Given the description of an element on the screen output the (x, y) to click on. 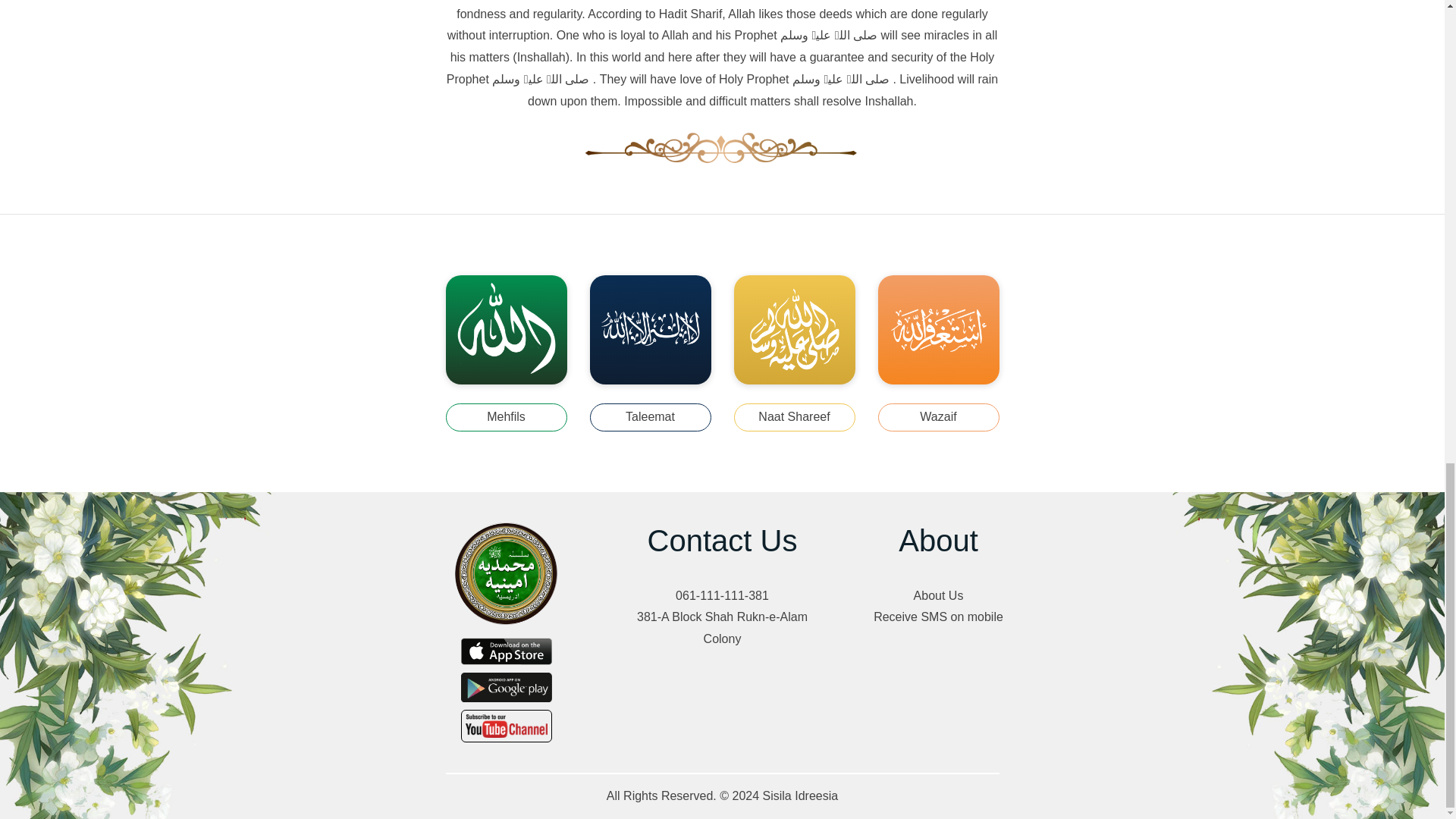
Naat Shareef (794, 417)
Mehfils (506, 417)
Receive SMS on mobile (938, 617)
061-111-111-381 (722, 596)
Wazaif (937, 417)
381-A Block Shah Rukn-e-Alam Colony (722, 628)
Taleemat (650, 417)
About Us (938, 596)
